Given the description of an element on the screen output the (x, y) to click on. 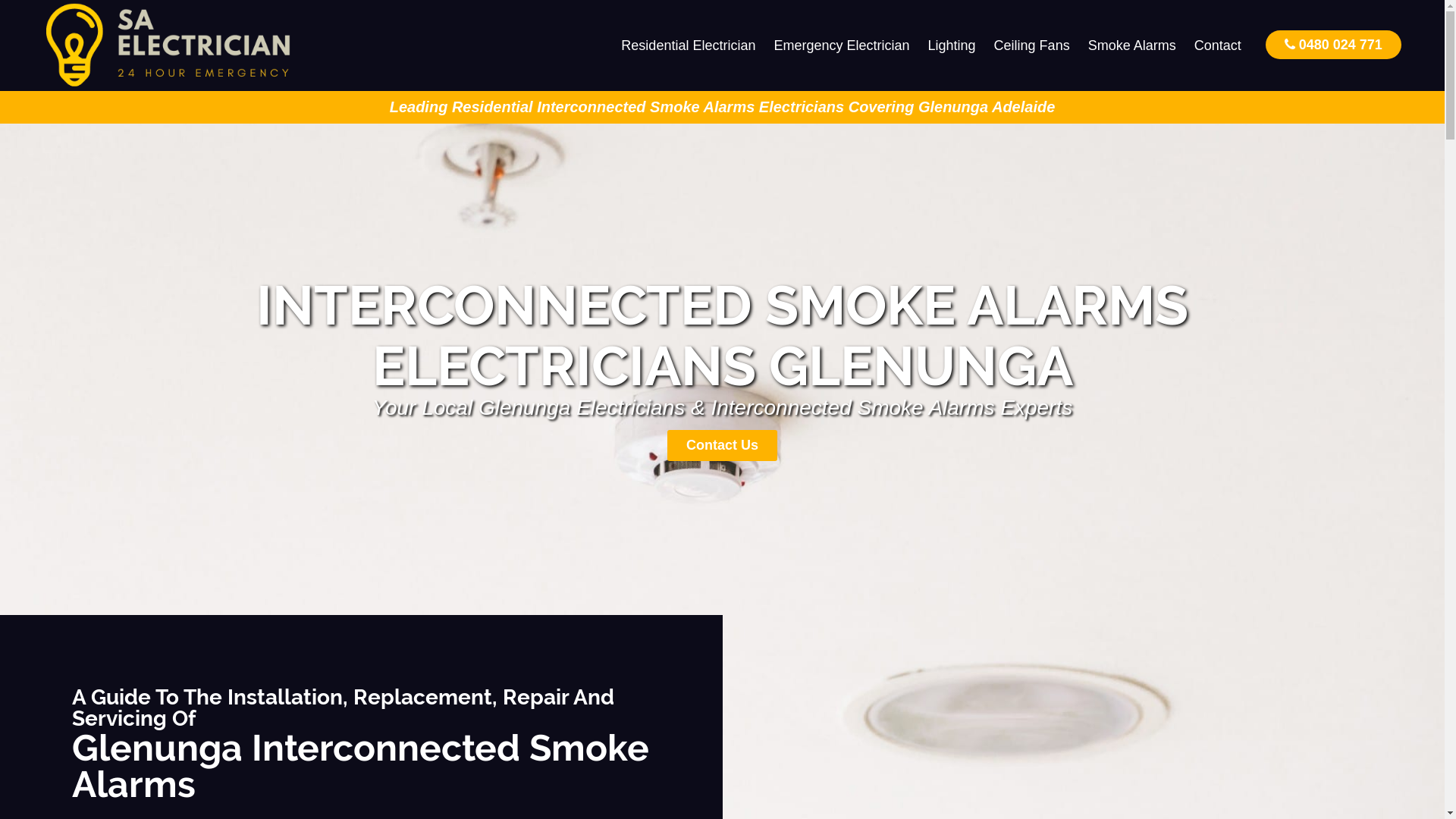
Emergency Electrician Element type: text (841, 45)
Residential Electrician Element type: text (687, 45)
Contact Element type: text (1217, 45)
Ceiling Fans Element type: text (1032, 45)
0480 024 771 Element type: text (1333, 44)
Contact Us Element type: text (722, 445)
Lighting Element type: text (952, 45)
Smoke Alarms Element type: text (1132, 45)
